Given the description of an element on the screen output the (x, y) to click on. 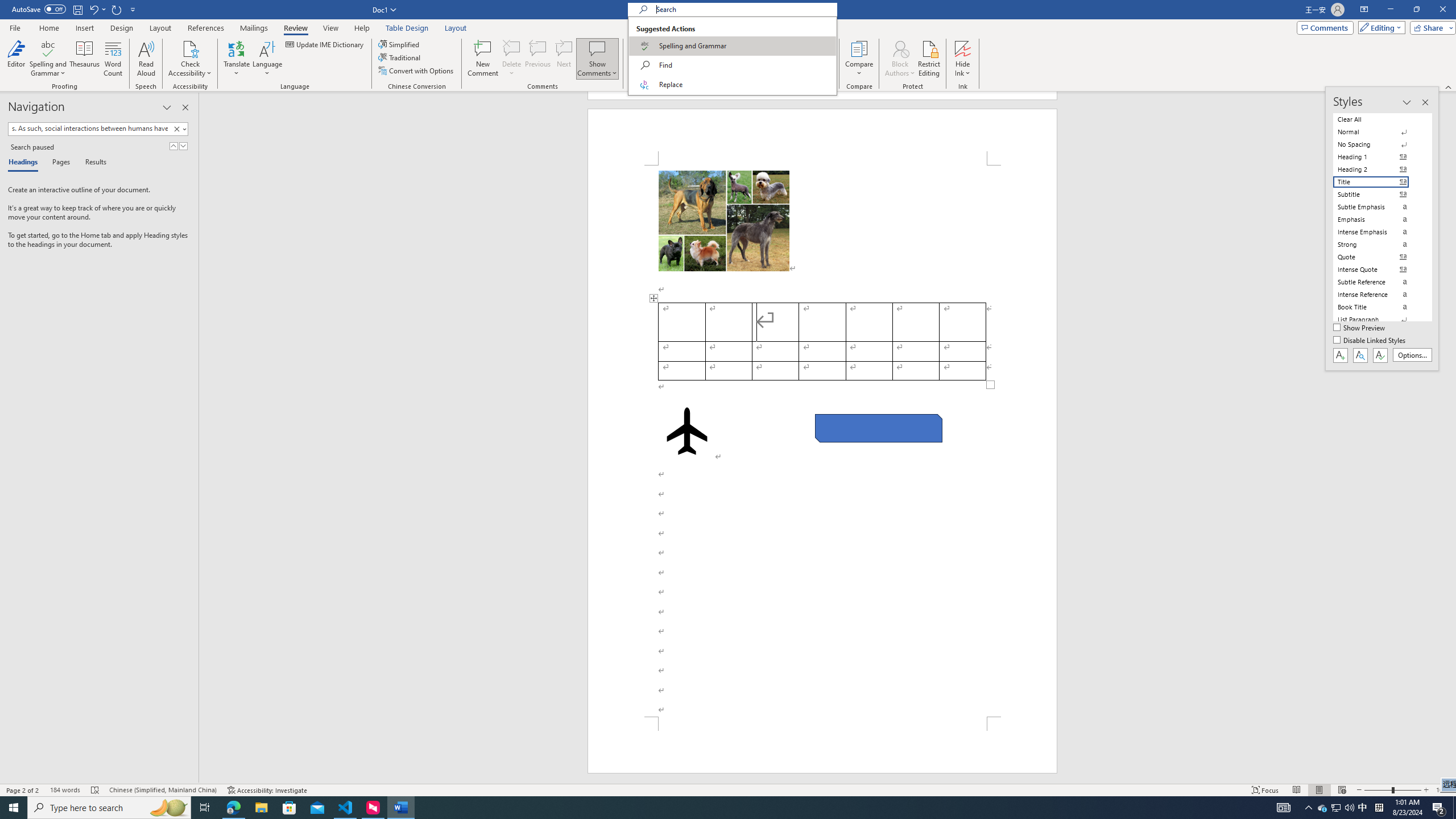
References (205, 28)
Spelling and Grammar (731, 45)
Clear (176, 128)
Subtle Reference (1377, 282)
Restrict Editing (929, 58)
Zoom Out (1377, 790)
Hide Ink (962, 58)
Spelling and Grammar Check Errors (94, 790)
Layout (455, 28)
Subtle Emphasis (1377, 206)
Display for Review (705, 44)
Word Count (113, 58)
Delete (511, 48)
Reviewing Pane (698, 69)
Web Layout (1342, 790)
